Given the description of an element on the screen output the (x, y) to click on. 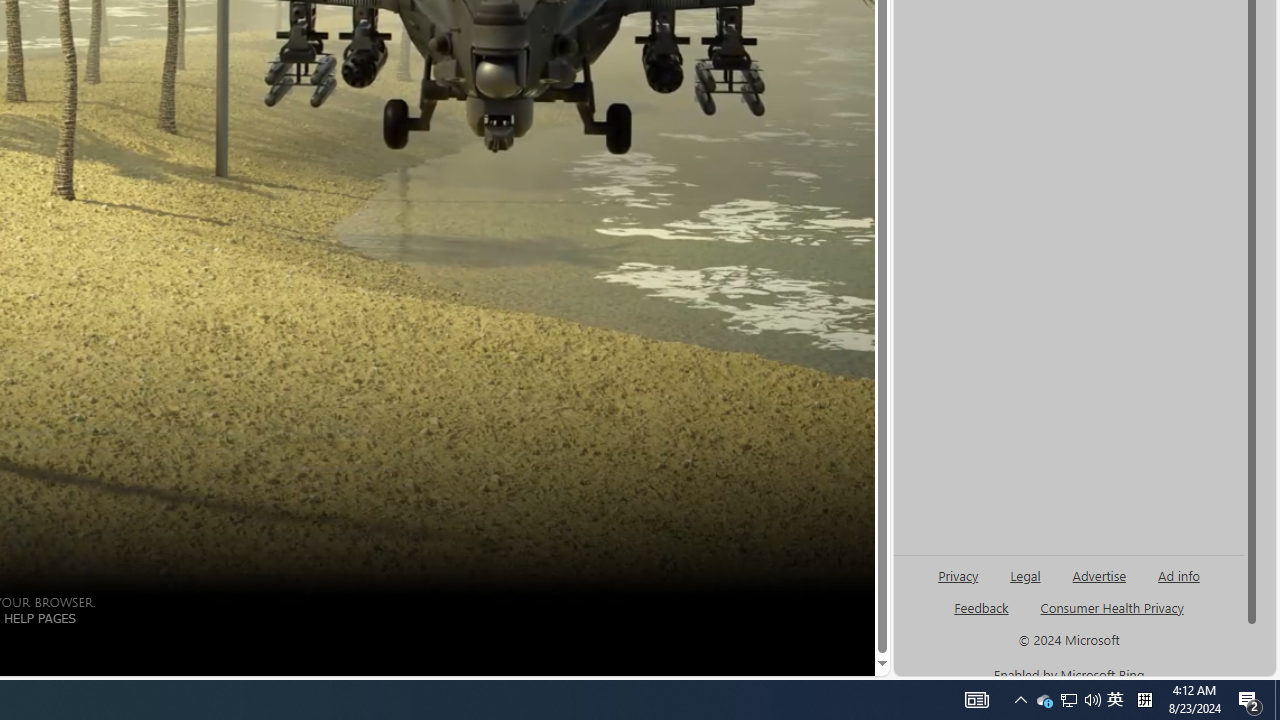
AutomationID: sb_feedback (1044, 699)
AutomationID: 4105 (1115, 699)
Notification Chevron (980, 607)
HELP PAGES (976, 699)
AutomationID: genId96 (1020, 699)
Q2790: 100% (39, 617)
Tray Input Indicator - Chinese (Simplified, China) (1069, 699)
User Promoted Notification Area (981, 615)
Show desktop (1092, 699)
Action Center, 2 new notifications (1144, 699)
